Given the description of an element on the screen output the (x, y) to click on. 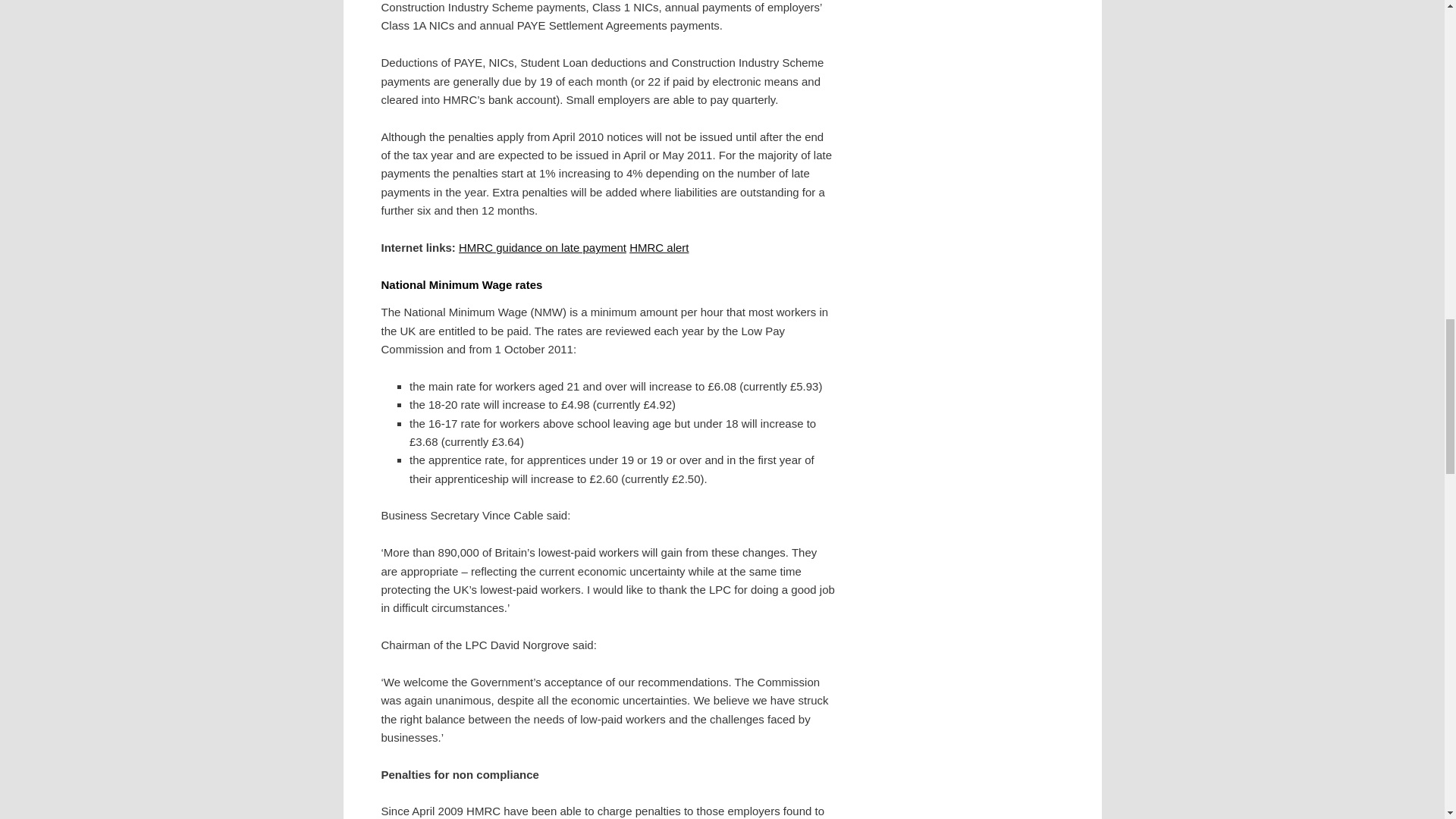
HMRC alert (658, 246)
HMRC guidance on late payment (542, 246)
